Given the description of an element on the screen output the (x, y) to click on. 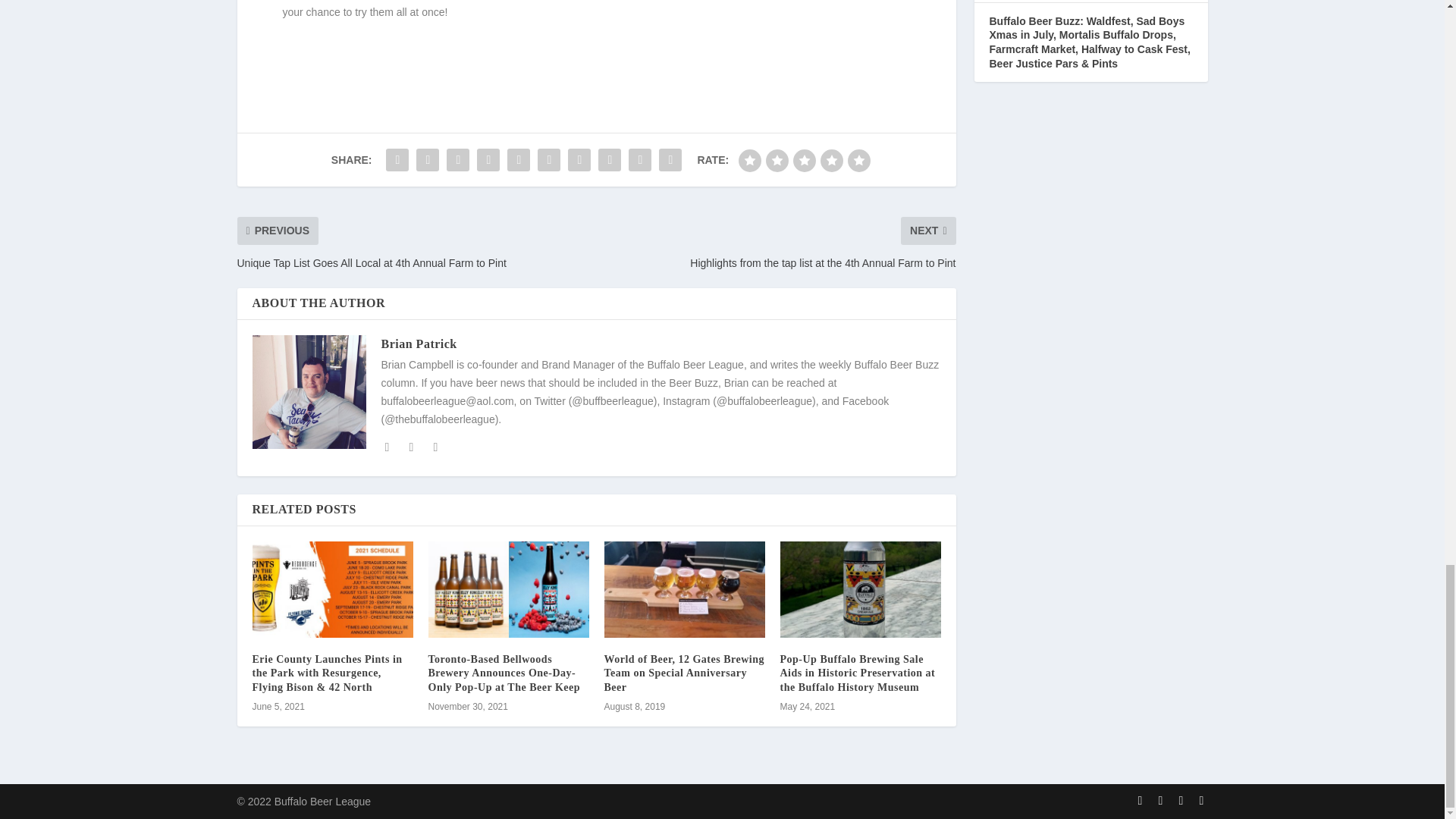
bad (749, 160)
